Given the description of an element on the screen output the (x, y) to click on. 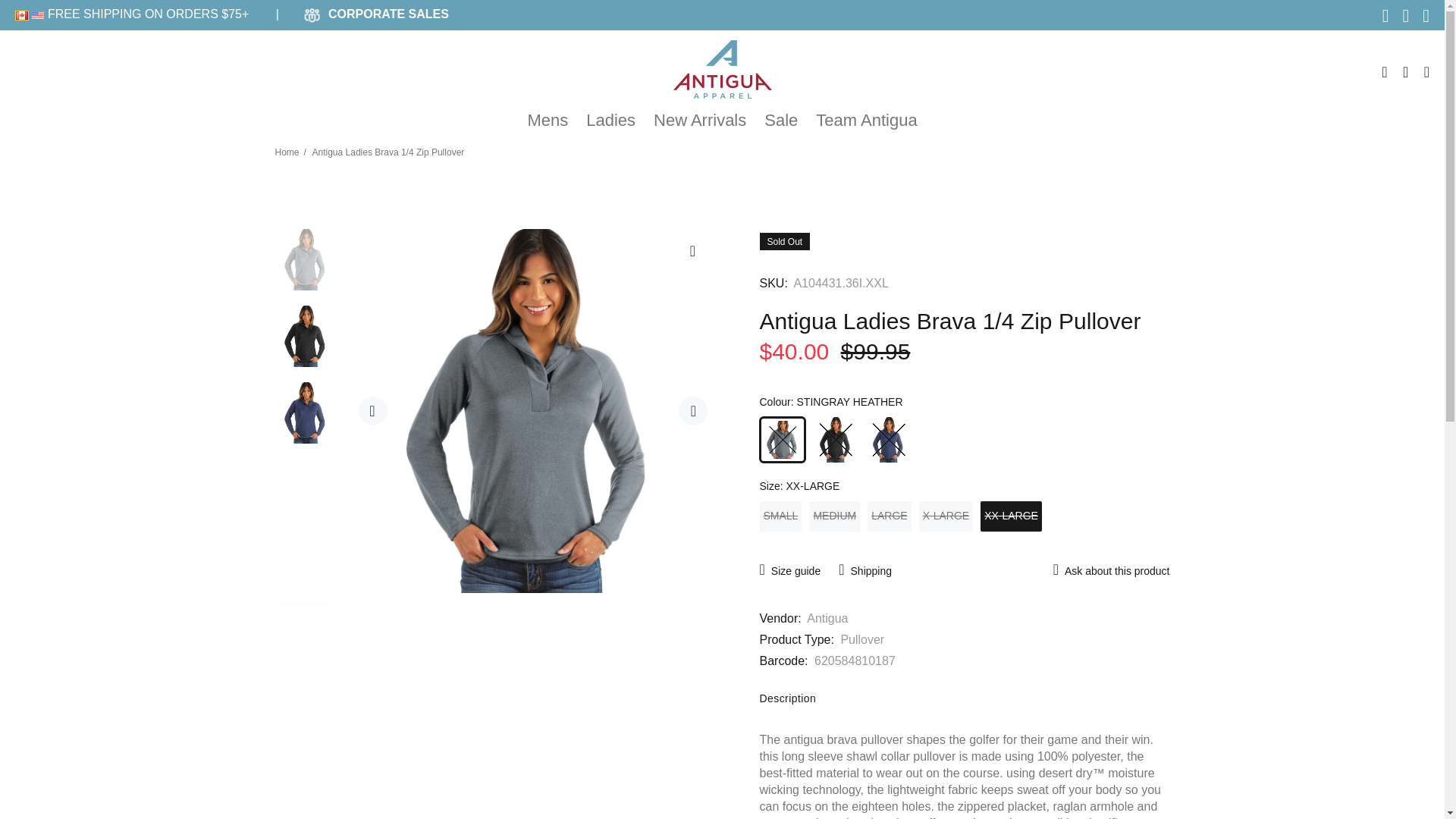
CORPORATE SALES (388, 13)
